Given the description of an element on the screen output the (x, y) to click on. 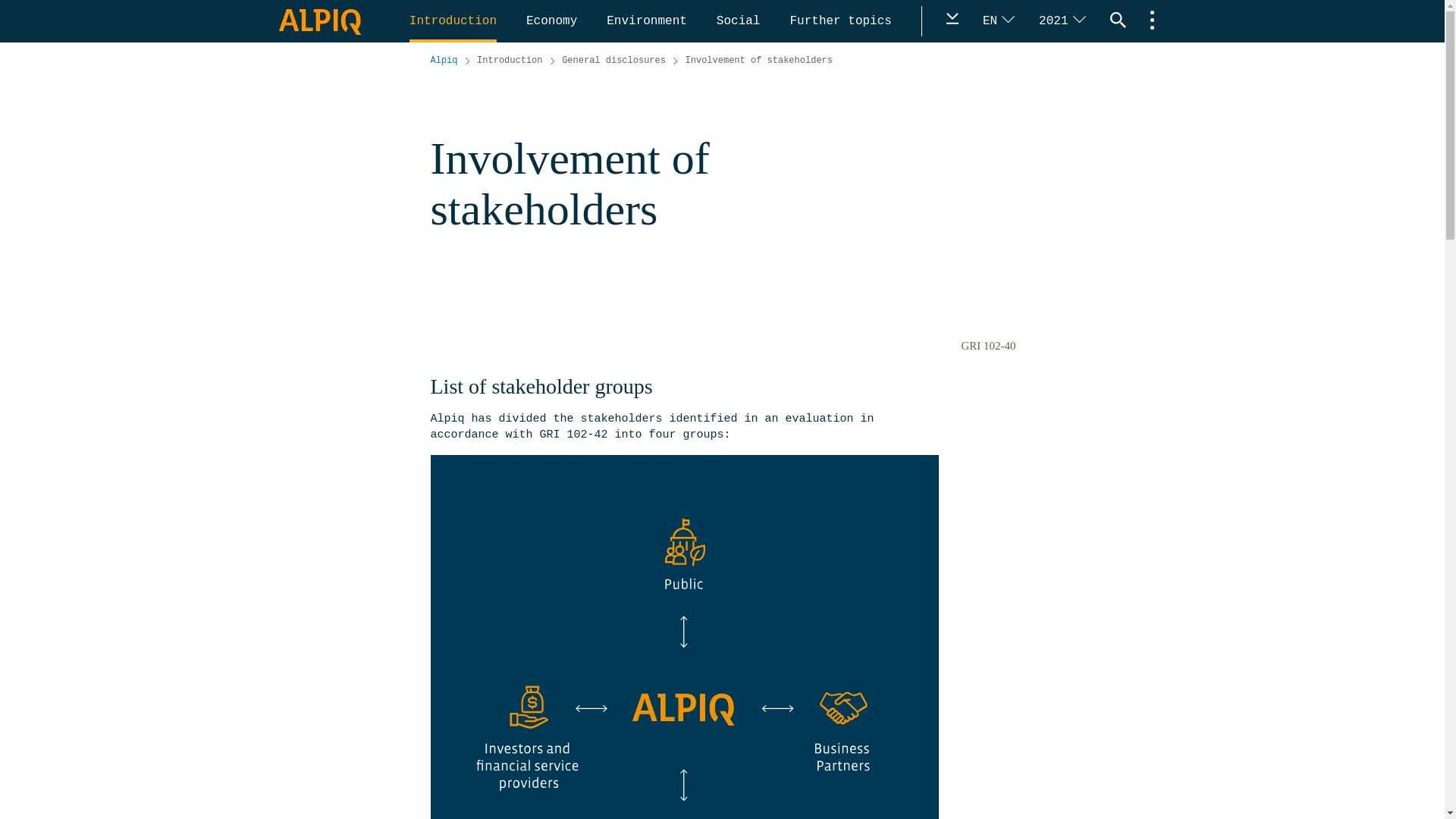
Environment (649, 20)
Introduction (455, 20)
Further topics (842, 20)
Social (740, 20)
Economy (553, 20)
